Given the description of an element on the screen output the (x, y) to click on. 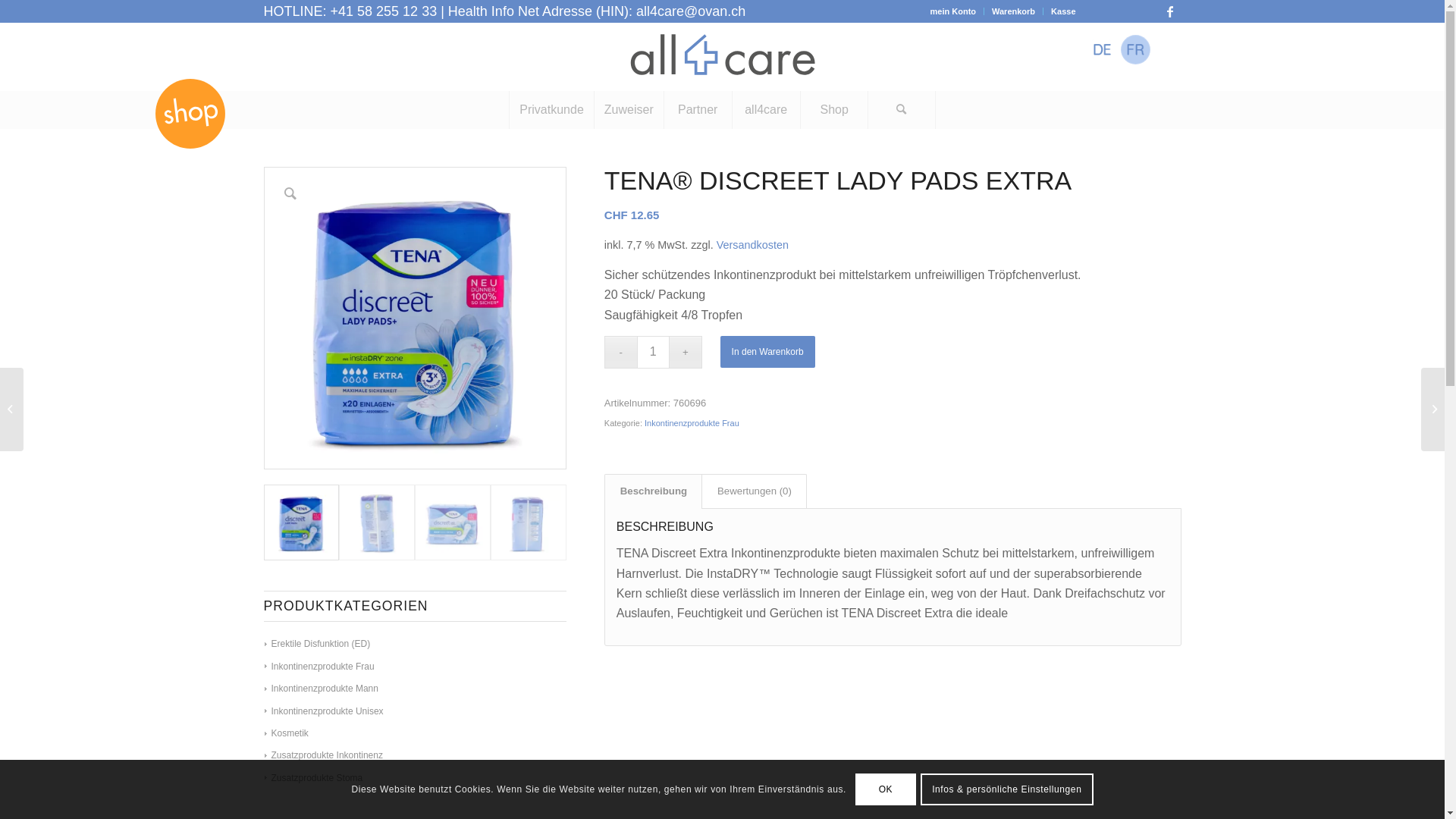
Bewertungen (0) Element type: text (753, 490)
Inkontinenzprodukte Mann Element type: text (320, 688)
all4care Element type: text (765, 109)
Zuweiser Element type: text (628, 109)
Partner Element type: text (697, 109)
Versandkosten Element type: text (752, 244)
Zusatzprodukte Inkontinenz Element type: text (322, 754)
Shop Element type: text (834, 109)
Inkontinenzprodukte Unisex Element type: text (322, 711)
In den Warenkorb Element type: text (767, 351)
+41 58 255 12 33 Element type: text (383, 10)
Beschreibung Element type: text (653, 490)
Inkontinenzprodukte Frau Element type: text (691, 422)
Erektile Disfunktion (ED) Element type: text (316, 643)
Kasse Element type: text (1063, 11)
Facebook Element type: hover (1169, 11)
OK Element type: text (885, 789)
Warenkorb Element type: text (1013, 11)
Deutsch Element type: hover (1102, 49)
Inkontinenzprodukte Frau Element type: text (318, 666)
Kosmetik Element type: text (285, 733)
mein Konto Element type: text (953, 11)
Menge Element type: hover (653, 351)
Privatkunde Element type: text (550, 109)
Tena-Discreet-Extra-Face1 Element type: hover (414, 317)
Zusatzprodukte Stoma Element type: text (312, 777)
all4care@ovan.ch Element type: text (690, 10)
